Given the description of an element on the screen output the (x, y) to click on. 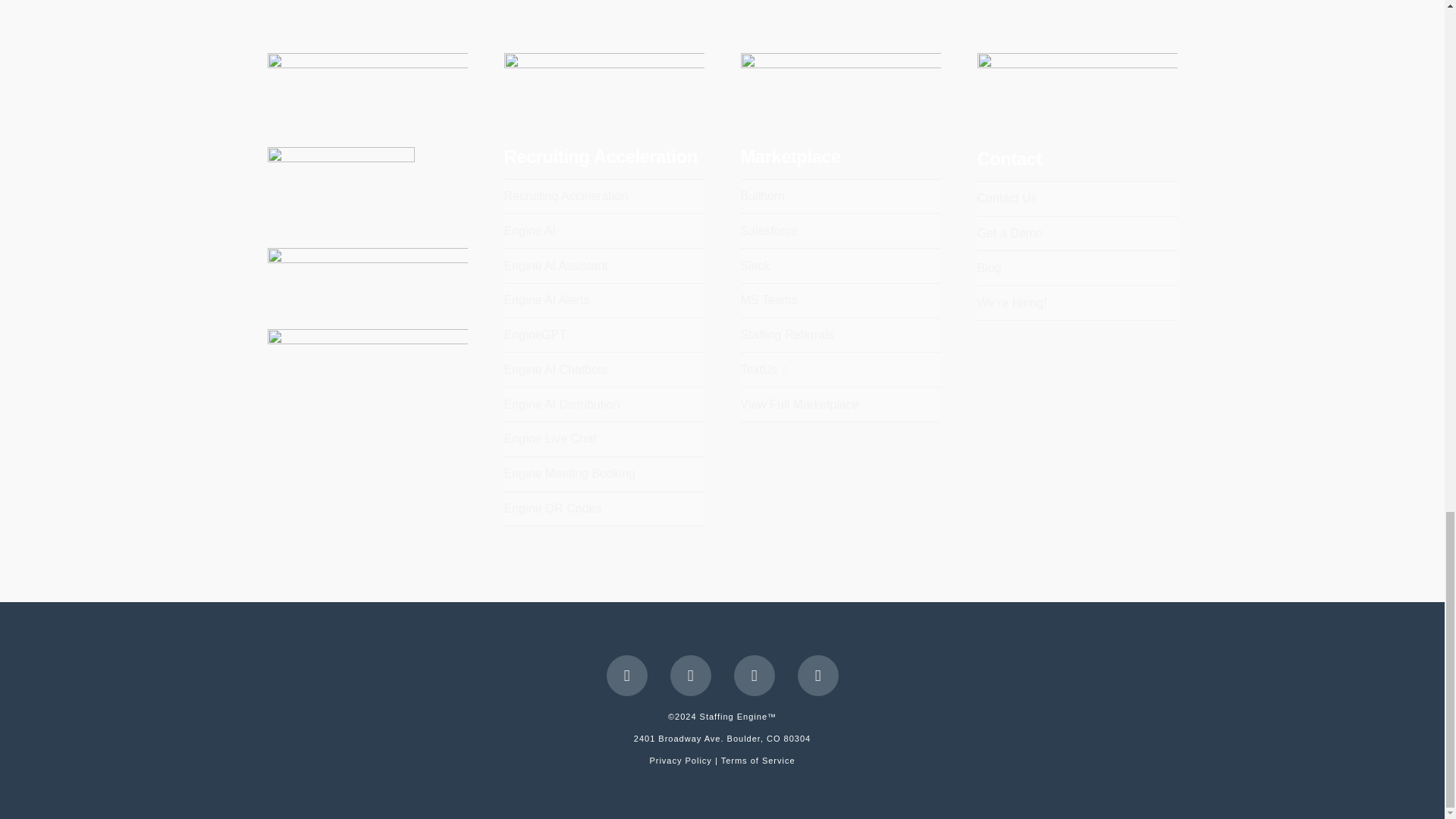
Twitter (627, 675)
LinkedIn (690, 675)
Instagram (817, 675)
YouTube (753, 675)
